Given the description of an element on the screen output the (x, y) to click on. 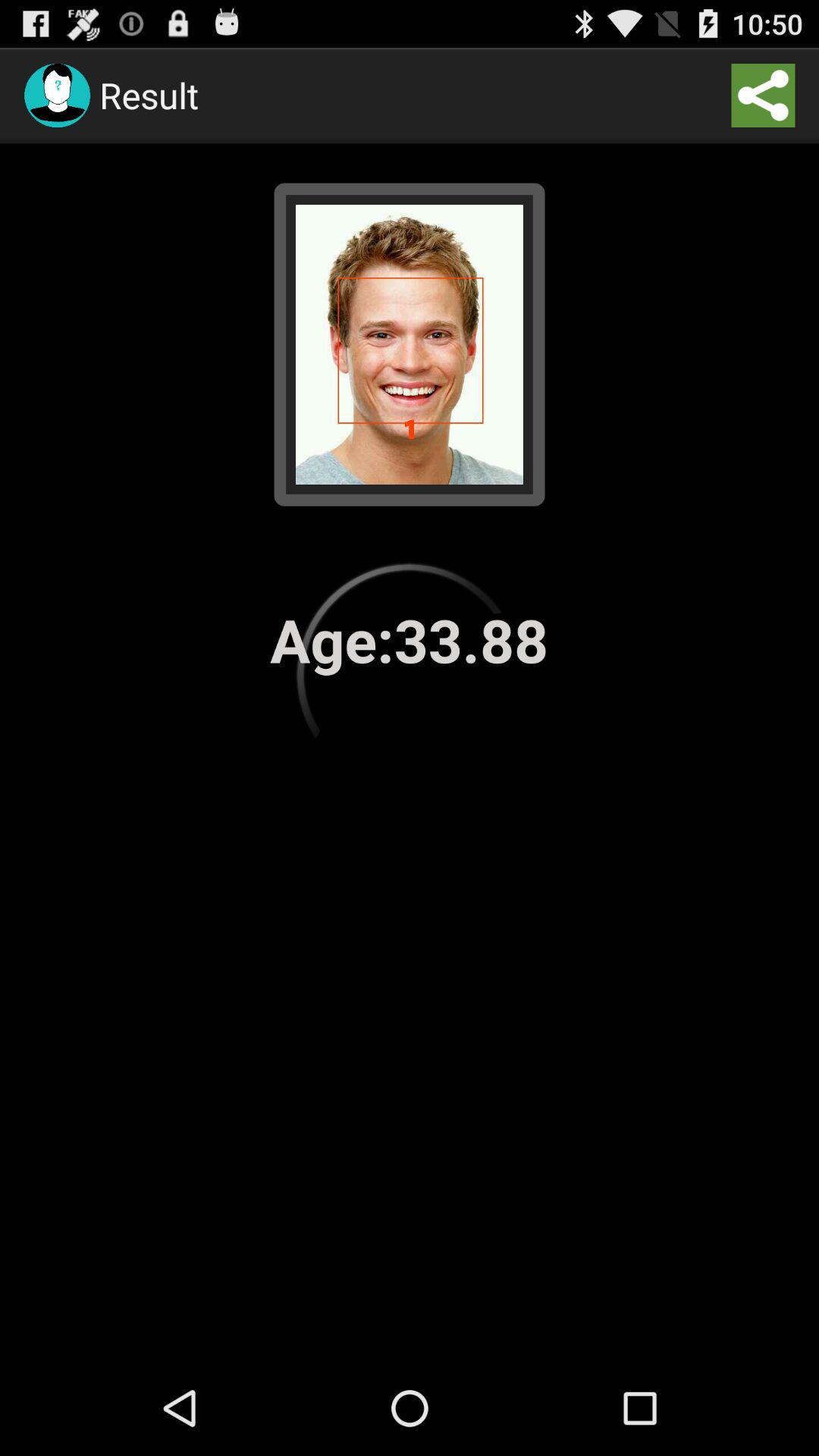
tap the app to the right of the result icon (763, 95)
